Given the description of an element on the screen output the (x, y) to click on. 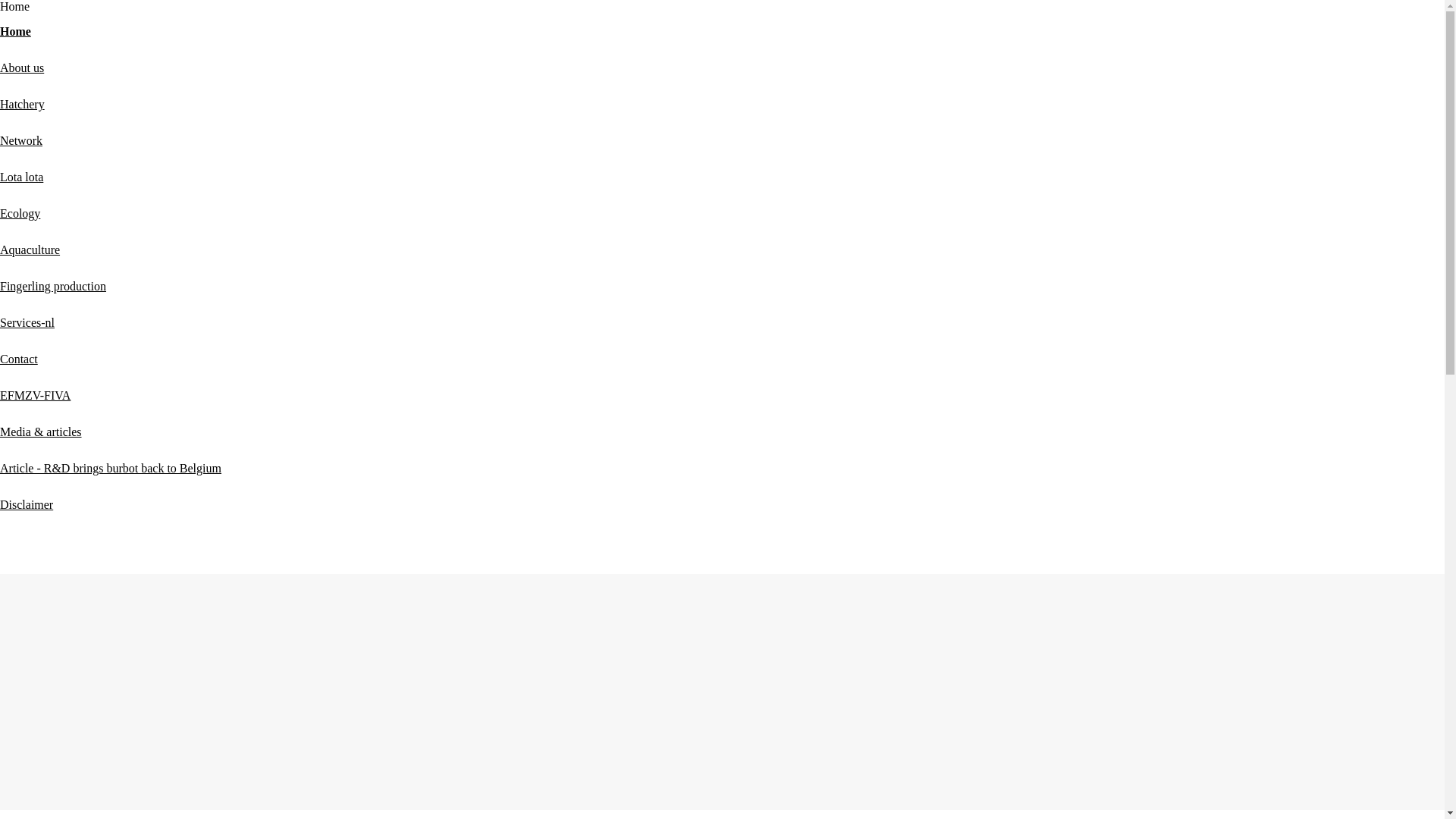
Network Element type: text (21, 140)
Ecology Element type: text (20, 213)
Aquaculture Element type: text (29, 249)
Article - R&D brings burbot back to Belgium Element type: text (110, 467)
EFMZV-FIVA Element type: text (35, 395)
Disclaimer Element type: text (26, 504)
Media & articles Element type: text (40, 431)
Contact Element type: text (18, 358)
Fingerling production Element type: text (53, 285)
Lota lota Element type: text (21, 176)
Services-nl Element type: text (27, 322)
About us Element type: text (21, 67)
Hatchery Element type: text (22, 103)
Home Element type: text (15, 31)
